Given the description of an element on the screen output the (x, y) to click on. 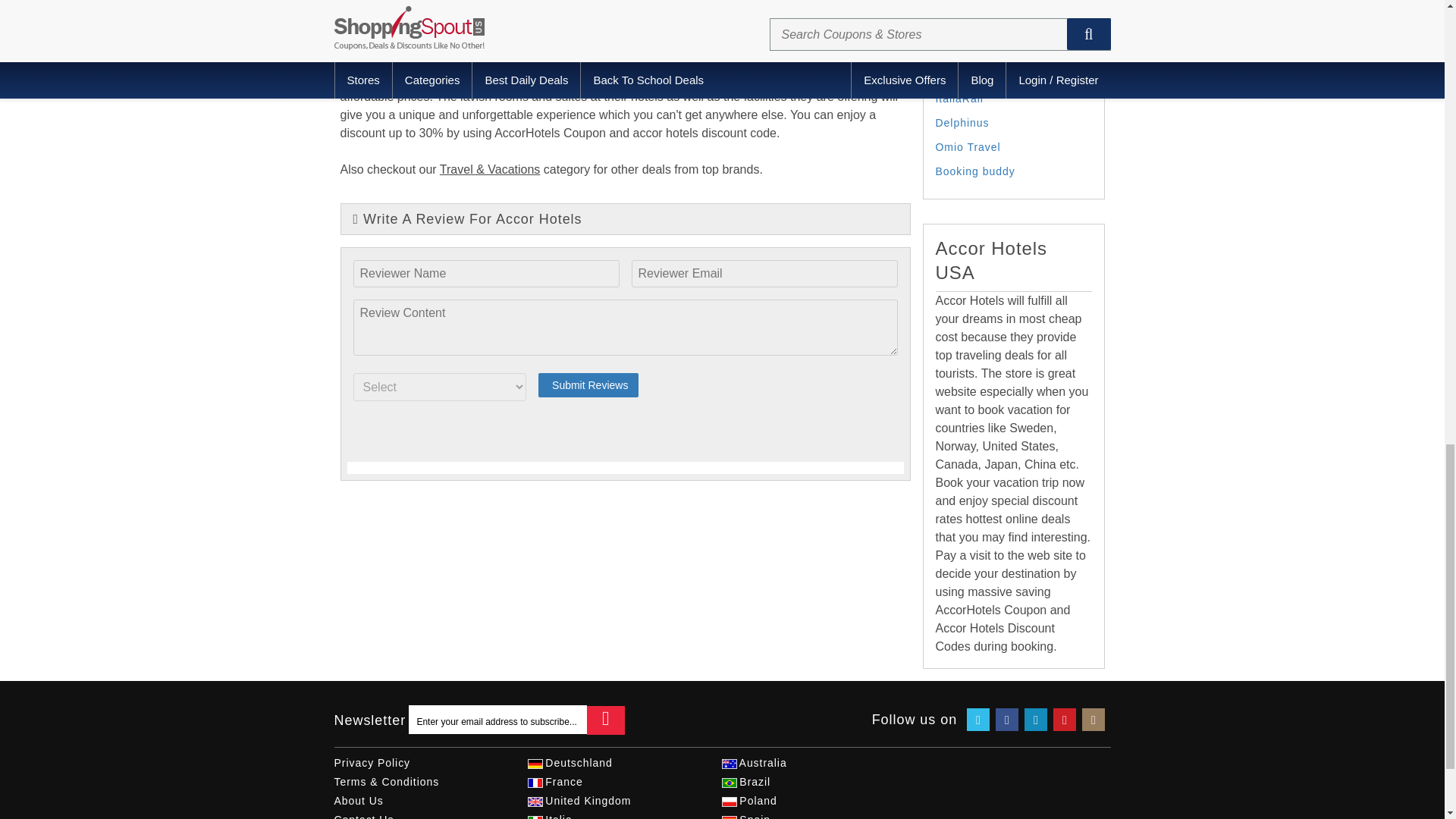
Deutschland (534, 764)
Poland (728, 801)
Qatar Airways (973, 73)
Great Britan (534, 801)
Delphinus (963, 122)
France (534, 782)
Avoya Travel (971, 50)
Bazil (728, 782)
Australia (728, 764)
Submit Reviews (588, 385)
